Given the description of an element on the screen output the (x, y) to click on. 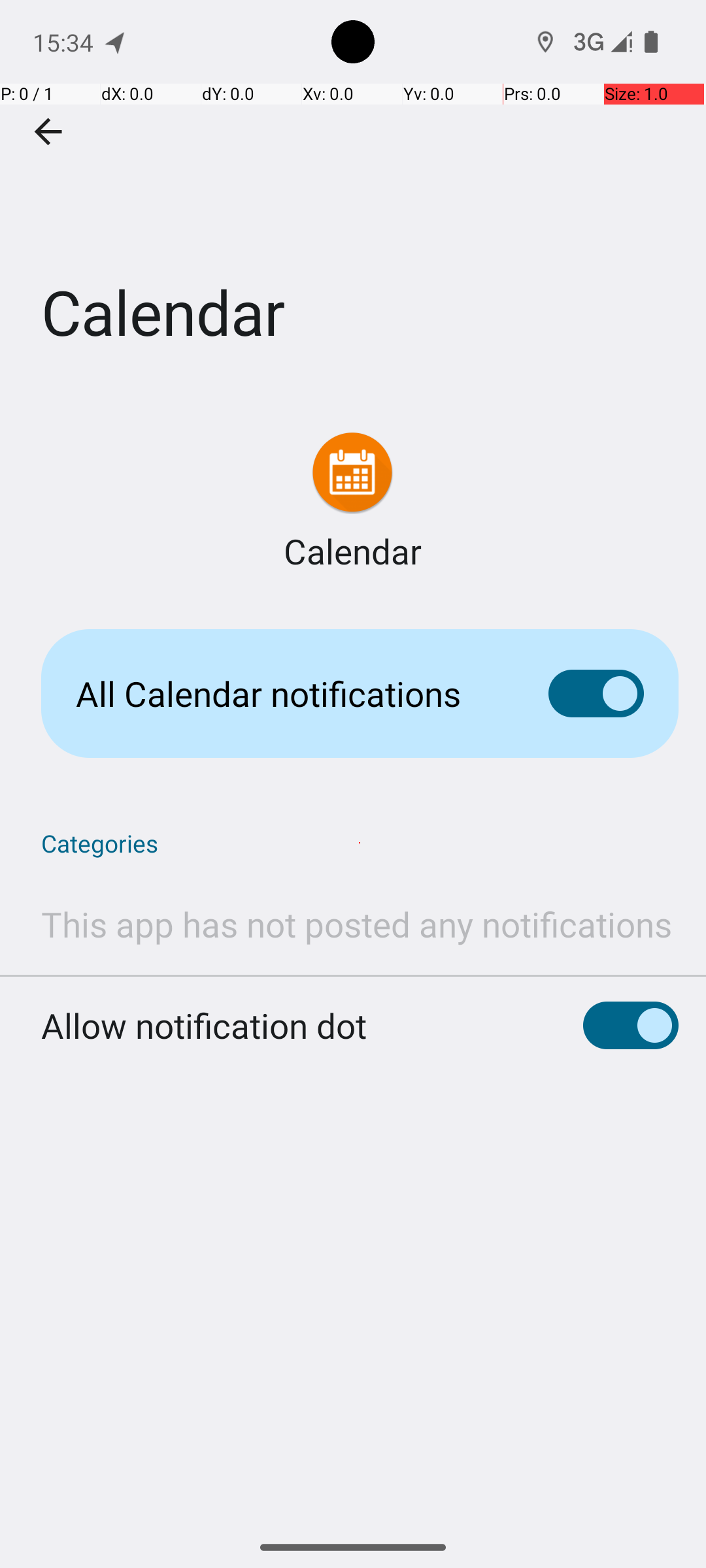
All Calendar notifications Element type: android.widget.TextView (291, 693)
This app has not posted any notifications Element type: android.widget.TextView (356, 923)
Allow notification dot Element type: android.widget.TextView (203, 1025)
